Given the description of an element on the screen output the (x, y) to click on. 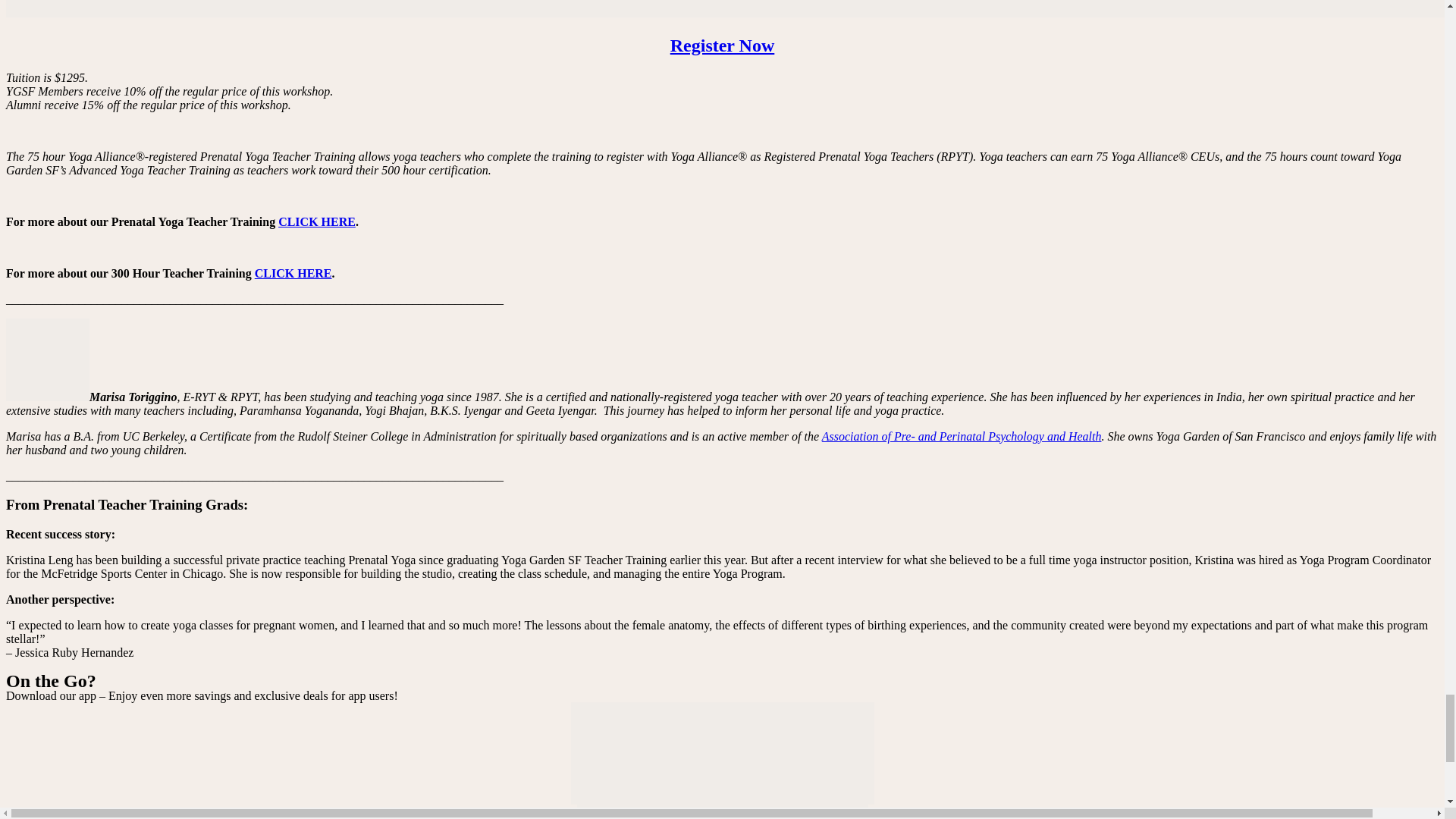
Name of Event (721, 45)
